Given the description of an element on the screen output the (x, y) to click on. 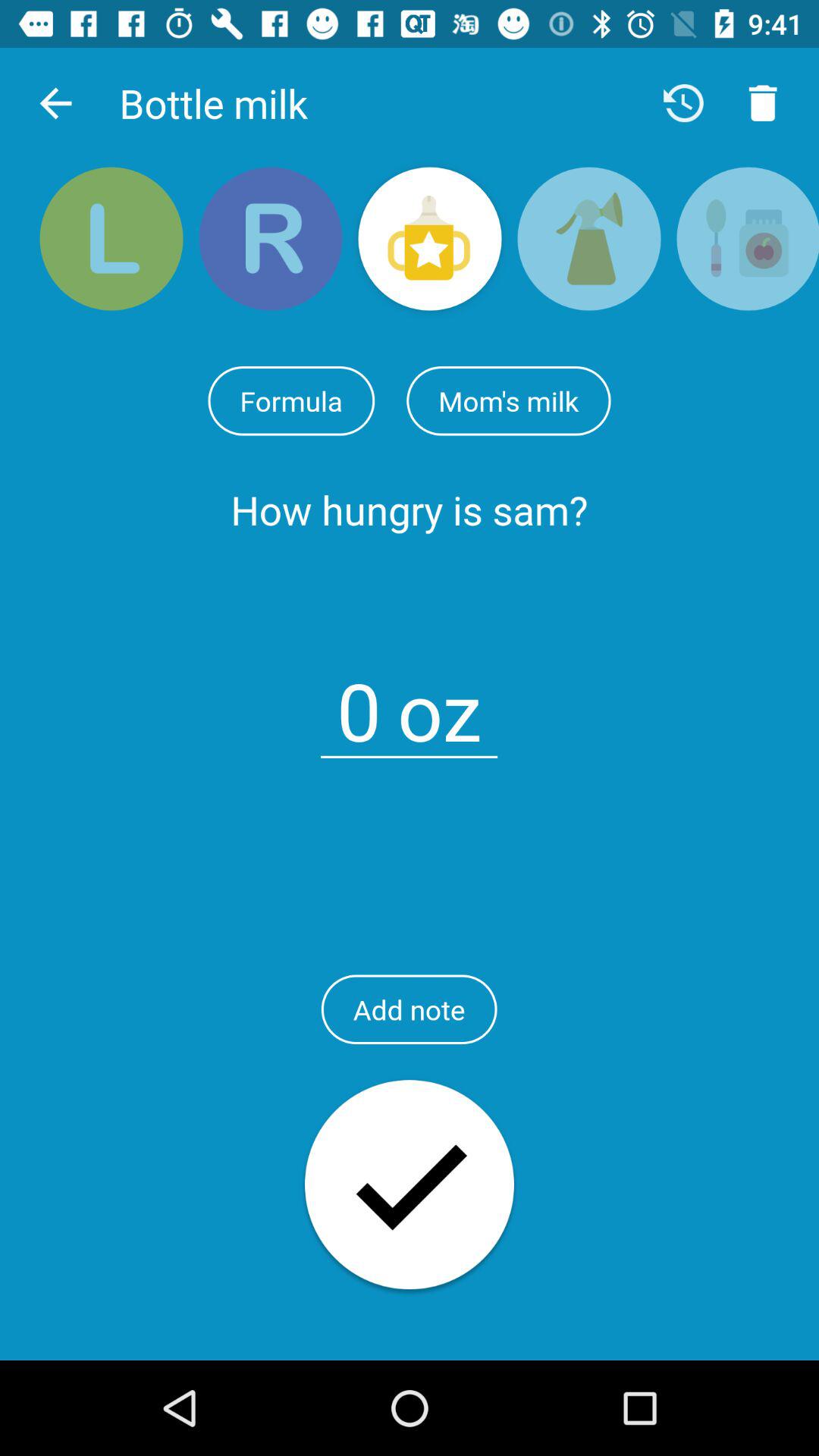
turn on the icon to the left of the bottle milk icon (55, 103)
